Given the description of an element on the screen output the (x, y) to click on. 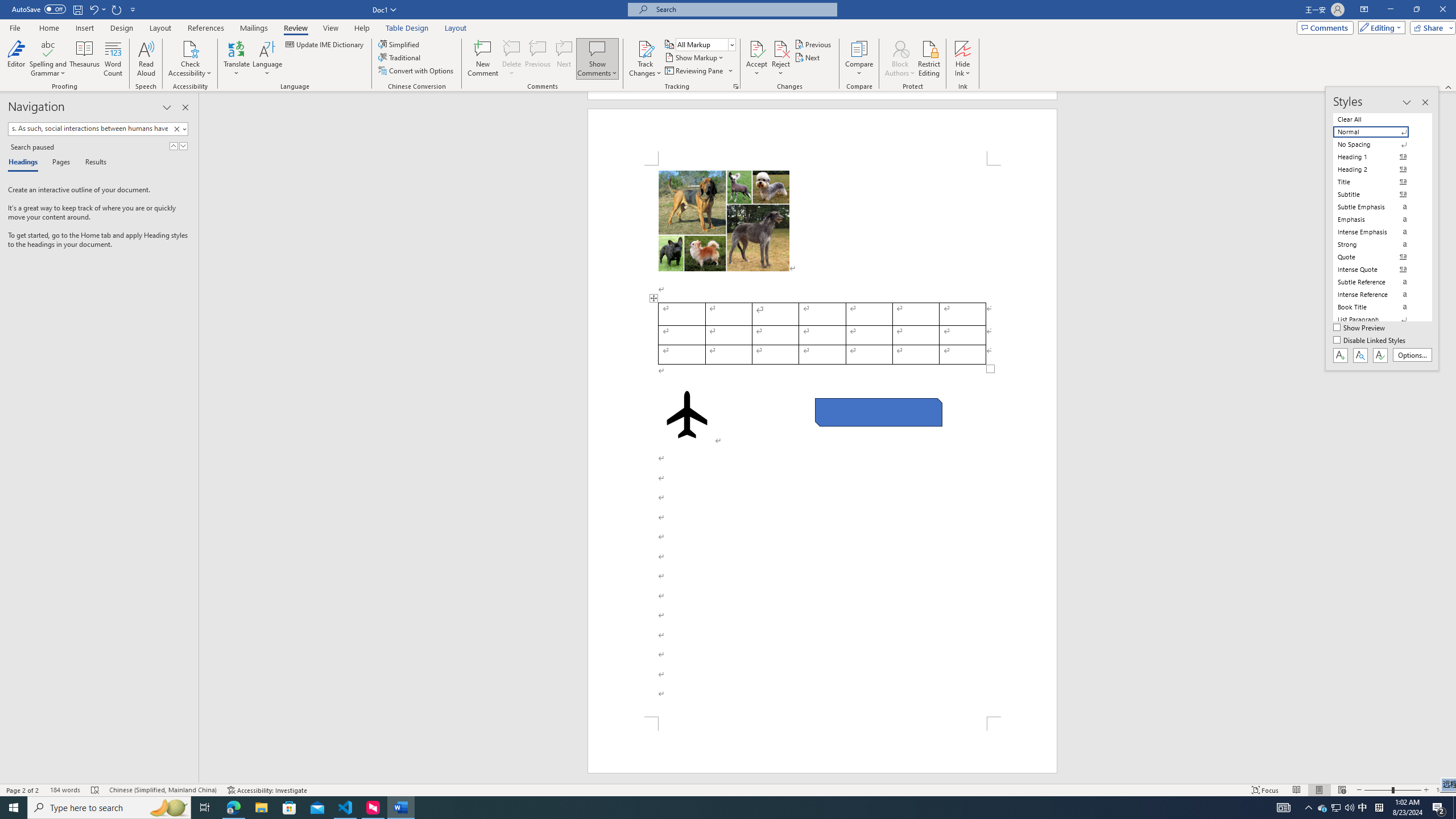
Spelling and Grammar (48, 58)
Zoom (1392, 790)
Display for Review (705, 44)
